Given the description of an element on the screen output the (x, y) to click on. 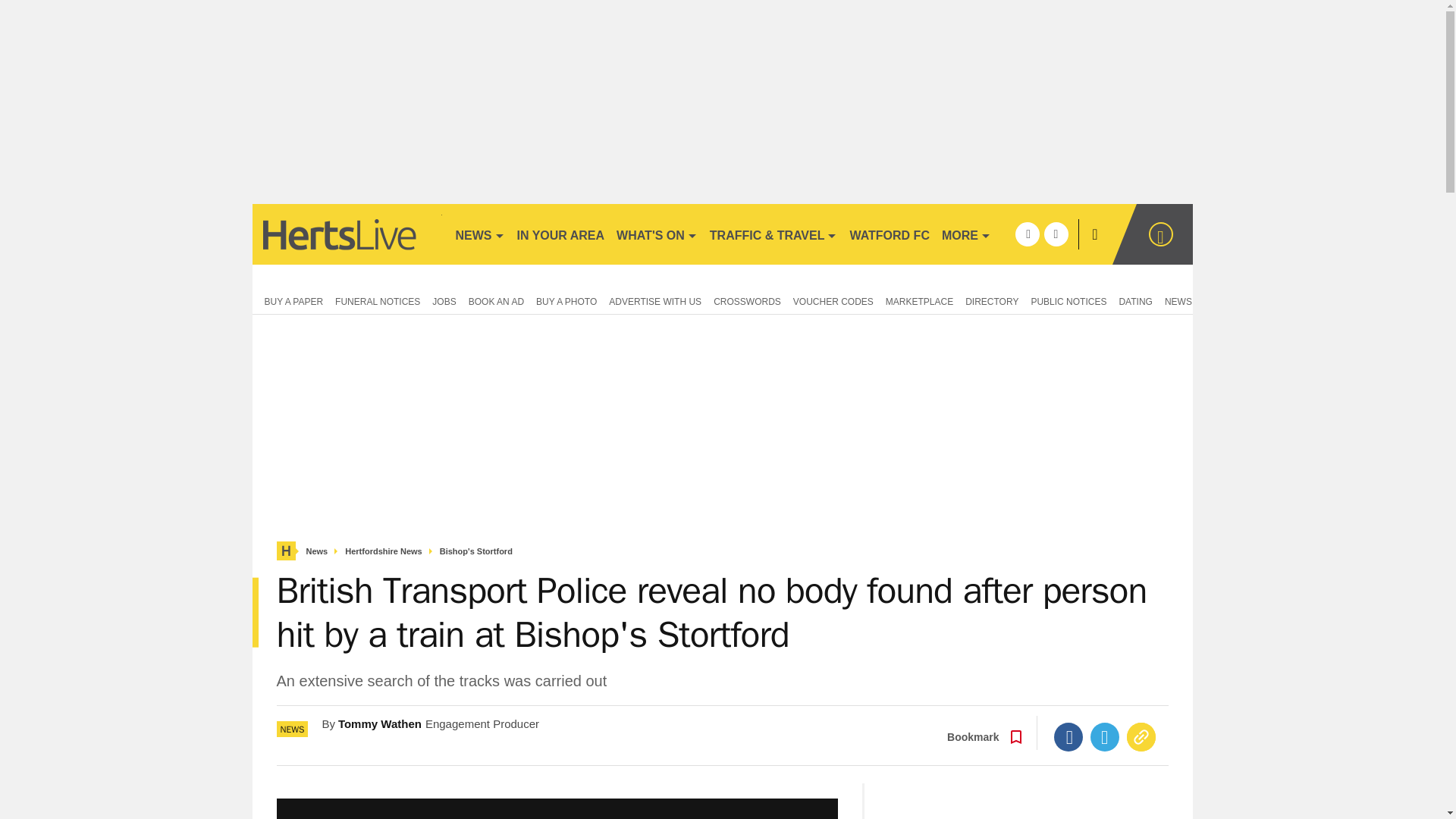
NEWS (479, 233)
hertfordshiremercury (346, 233)
facebook (1026, 233)
MORE (966, 233)
Twitter (1104, 736)
twitter (1055, 233)
IN YOUR AREA (561, 233)
WATFORD FC (888, 233)
Facebook (1068, 736)
WHAT'S ON (656, 233)
